Given the description of an element on the screen output the (x, y) to click on. 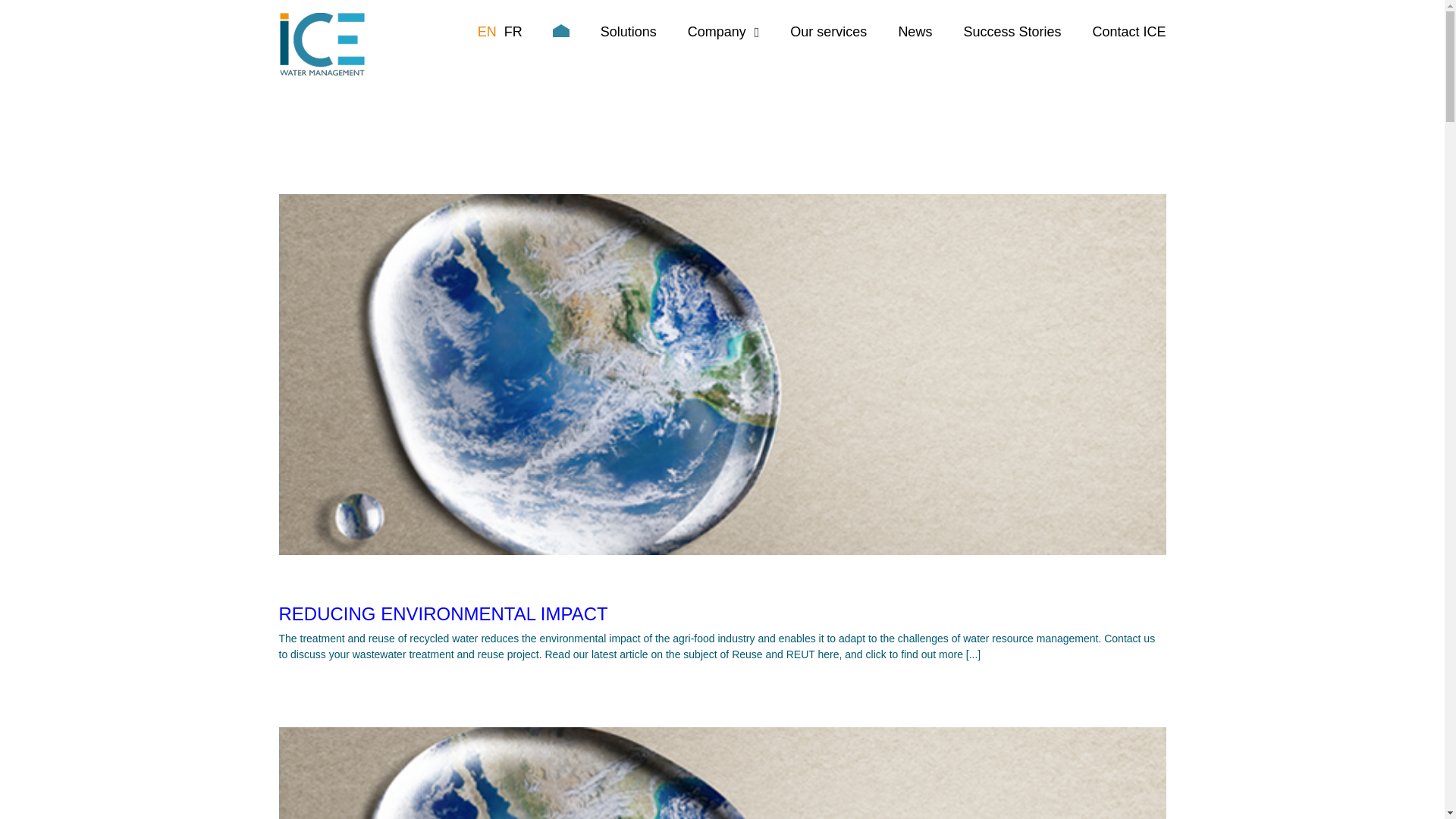
Contact ICE (1129, 31)
Our services (828, 31)
Company (723, 31)
Success Stories (1011, 31)
